Given the description of an element on the screen output the (x, y) to click on. 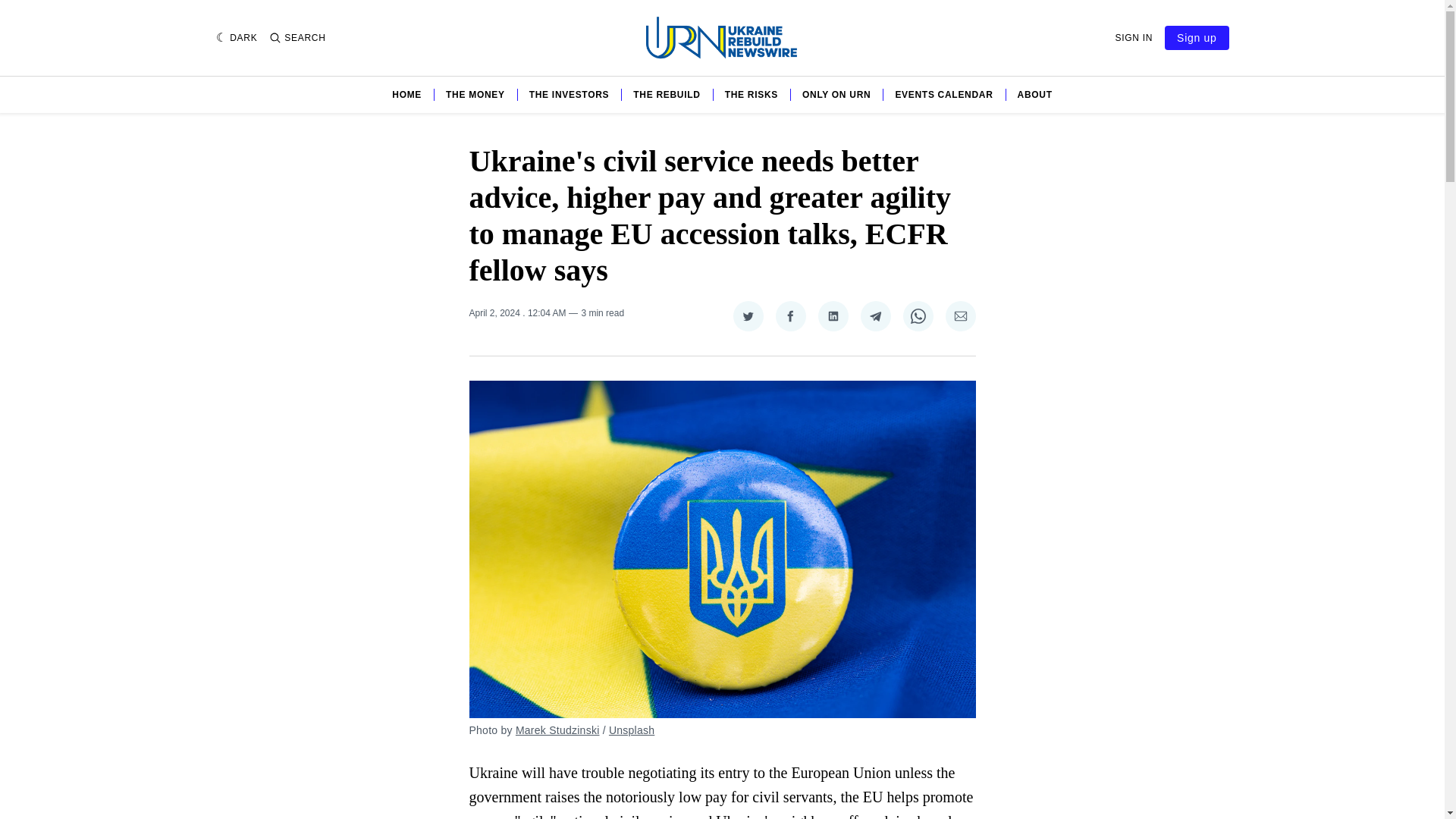
SIGN IN (1134, 37)
Unsplash (630, 729)
EVENTS CALENDAR (943, 94)
Marek Studzinski (557, 729)
SEARCH (296, 37)
Share on Facebook (789, 316)
Share on WhatsApp (917, 316)
Share on LinkedIn (831, 316)
DARK (236, 37)
THE RISKS (751, 94)
ABOUT (1034, 94)
THE INVESTORS (569, 94)
HOME (406, 94)
THE MONEY (475, 94)
Share via Email (959, 316)
